Given the description of an element on the screen output the (x, y) to click on. 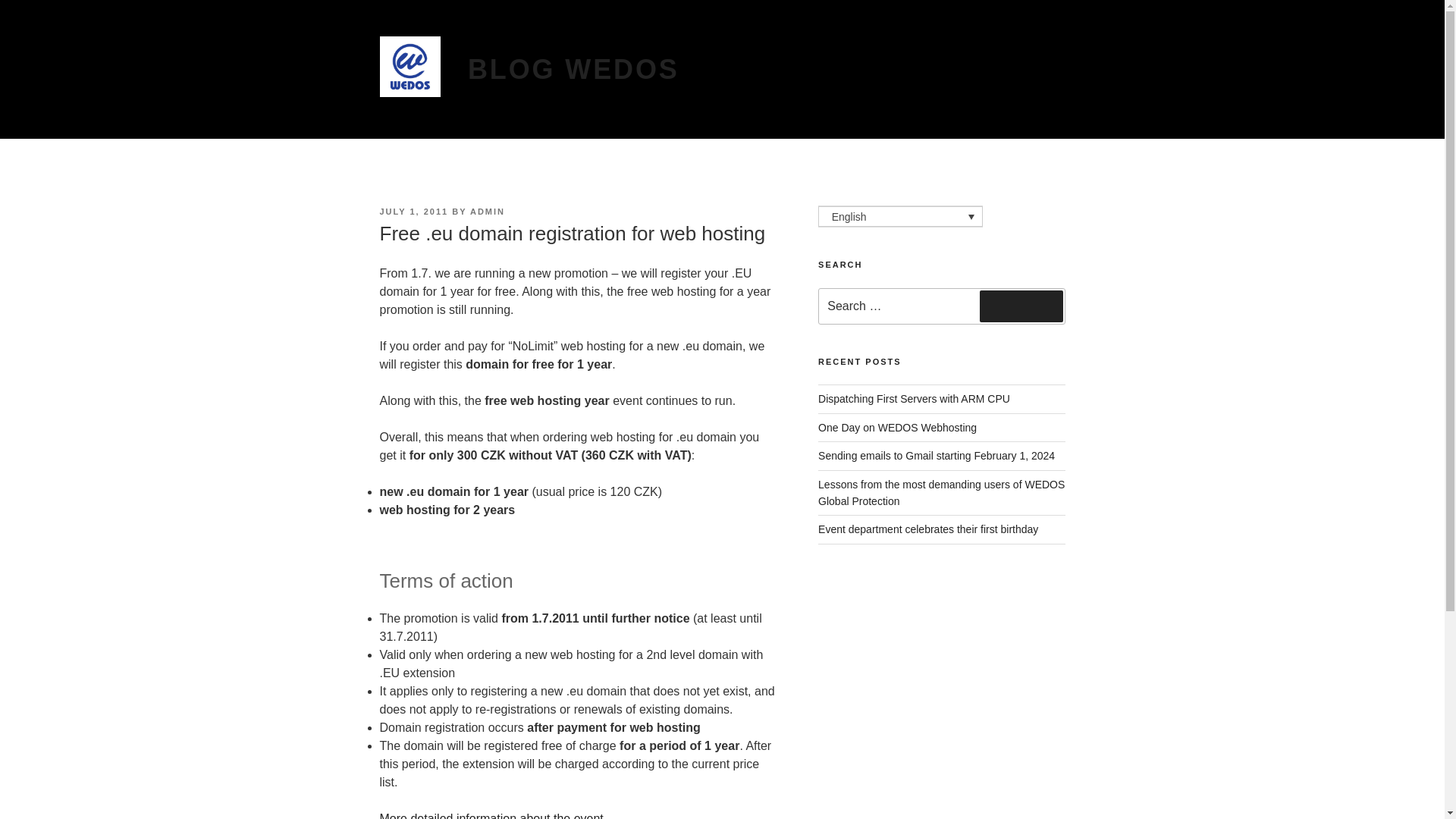
English (900, 216)
Event department celebrates their first birthday (928, 529)
BLOG WEDOS (573, 69)
More detailed information about the event (490, 815)
Dispatching First Servers with ARM CPU (914, 398)
JULY 1, 2011 (413, 211)
One Day on WEDOS Webhosting (897, 427)
ADMIN (487, 211)
Sending emails to Gmail starting February 1, 2024 (936, 455)
